Given the description of an element on the screen output the (x, y) to click on. 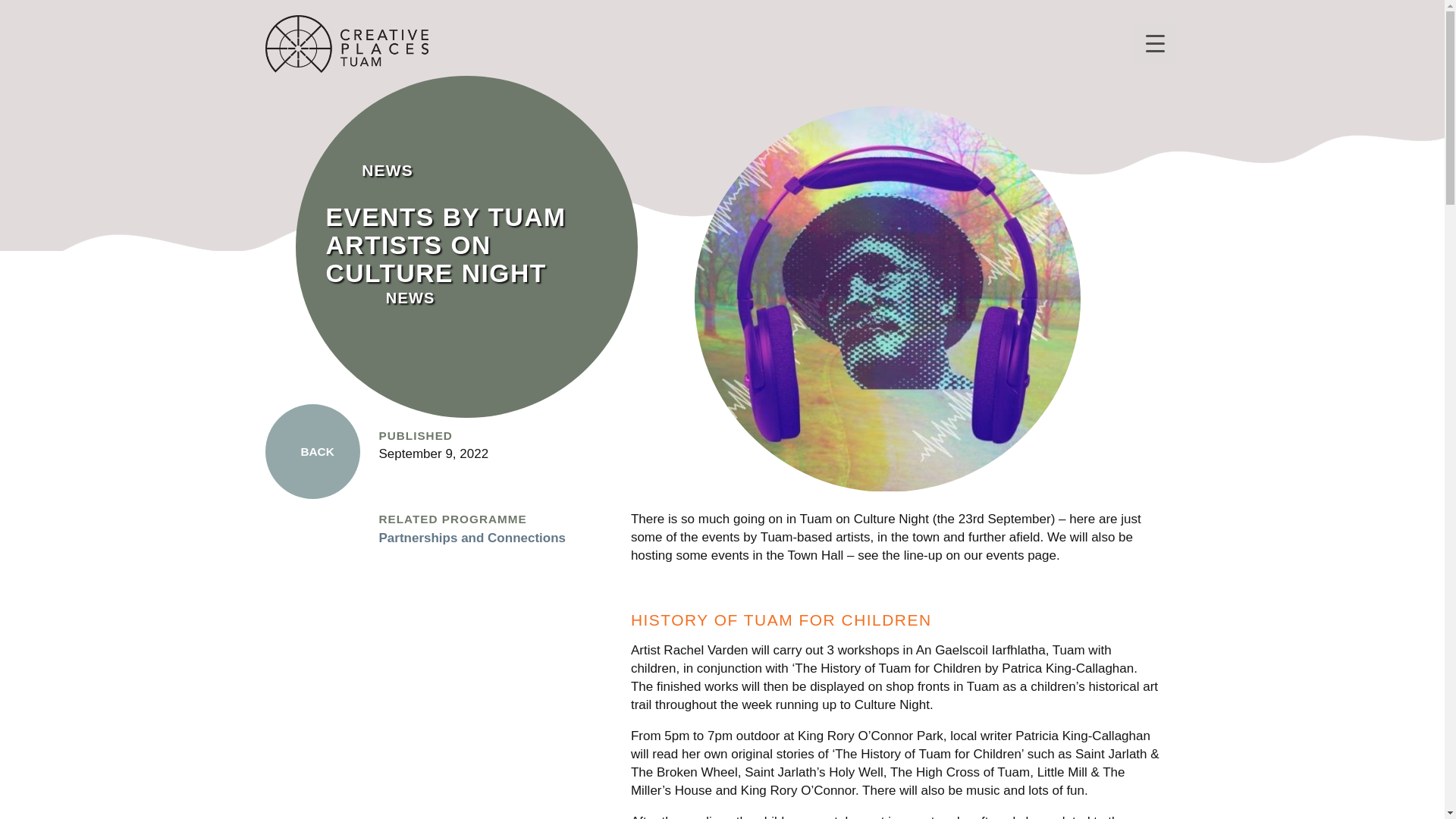
BACK (311, 451)
Partnerships and Connections (472, 537)
NEWS (410, 297)
